Given the description of an element on the screen output the (x, y) to click on. 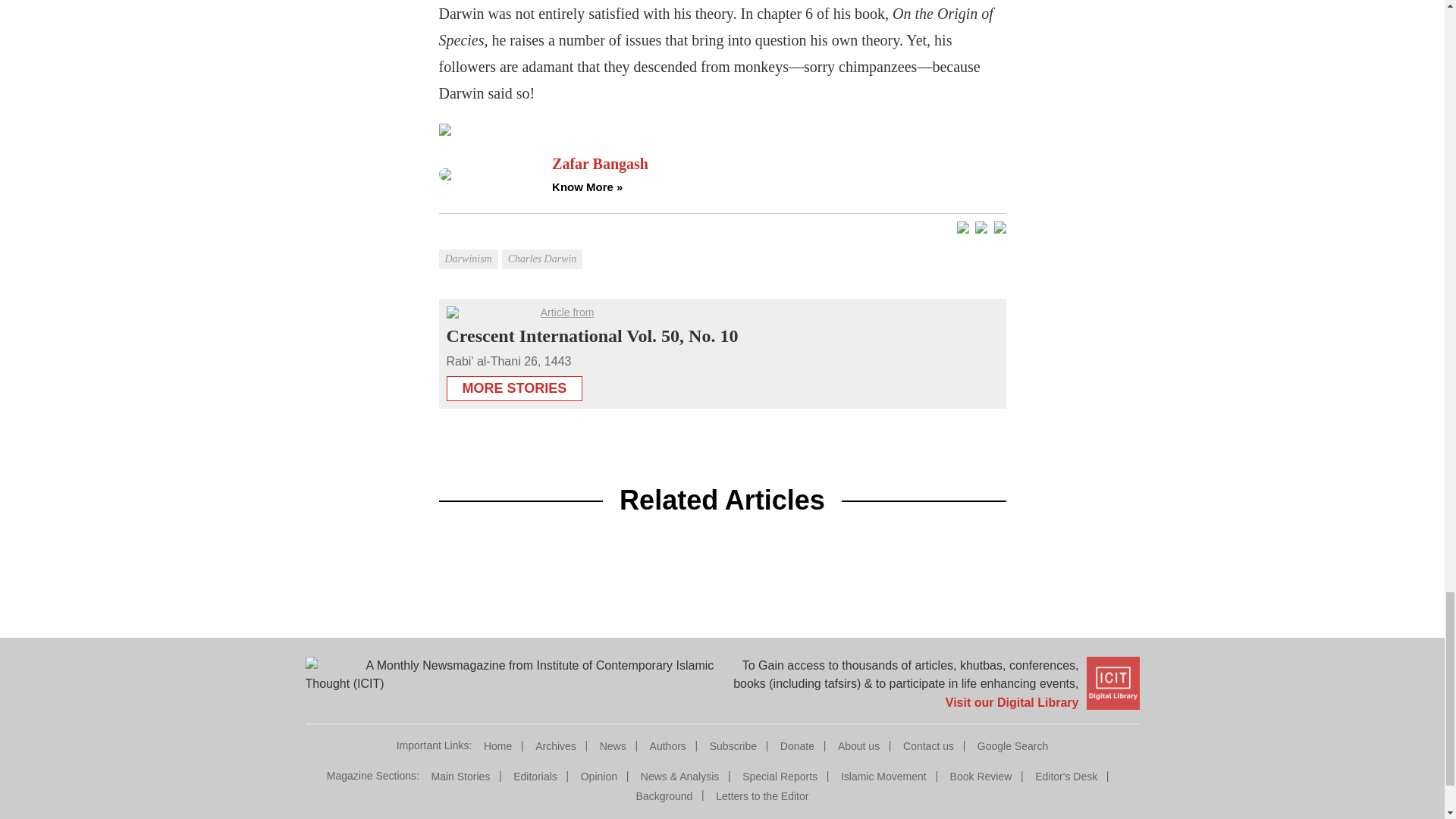
MORE STORIES (513, 383)
Zafar Bangash (778, 163)
Darwinism (469, 247)
Charles Darwin (544, 247)
